Given the description of an element on the screen output the (x, y) to click on. 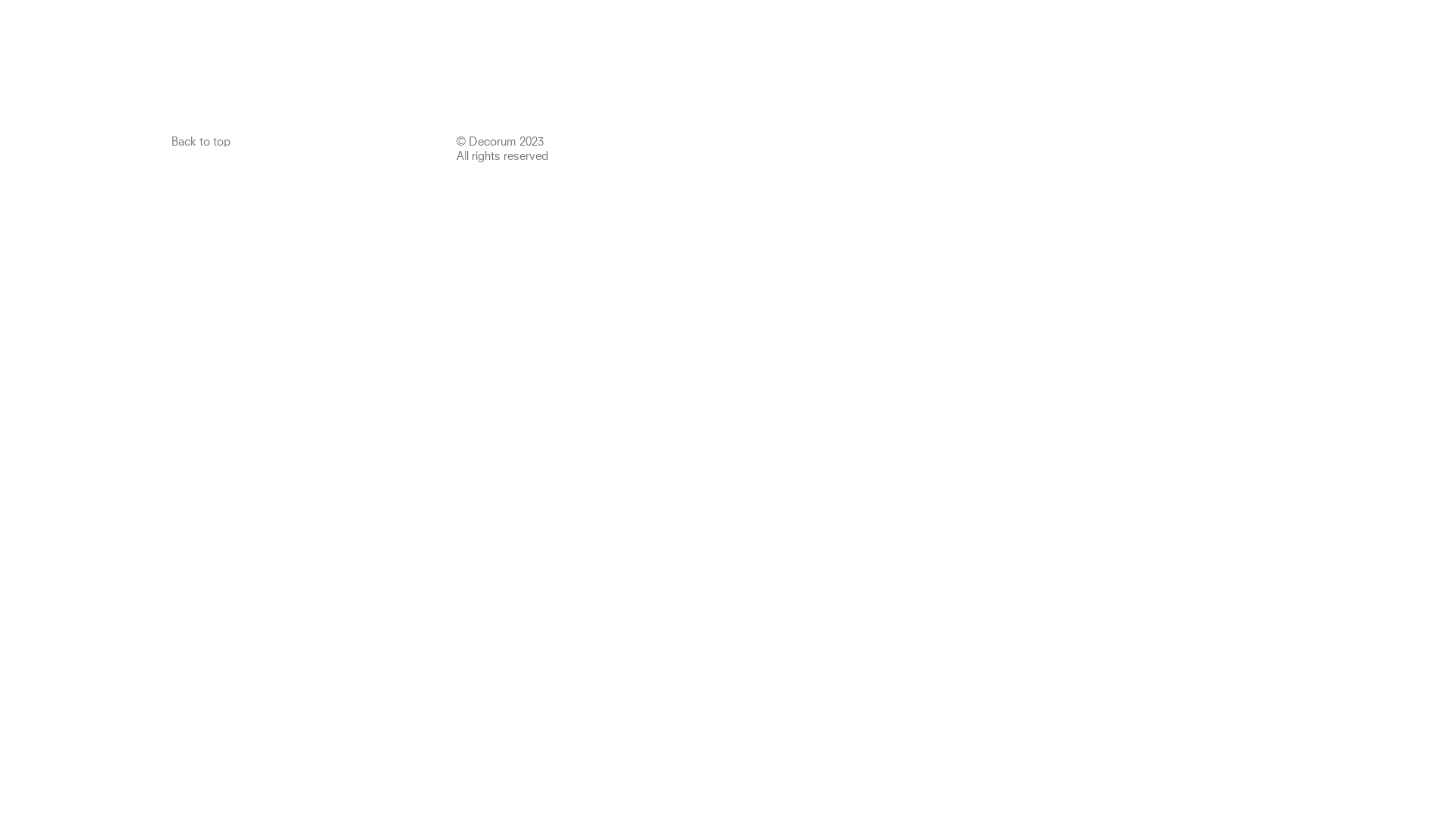
Back to top Element type: text (200, 141)
